Given the description of an element on the screen output the (x, y) to click on. 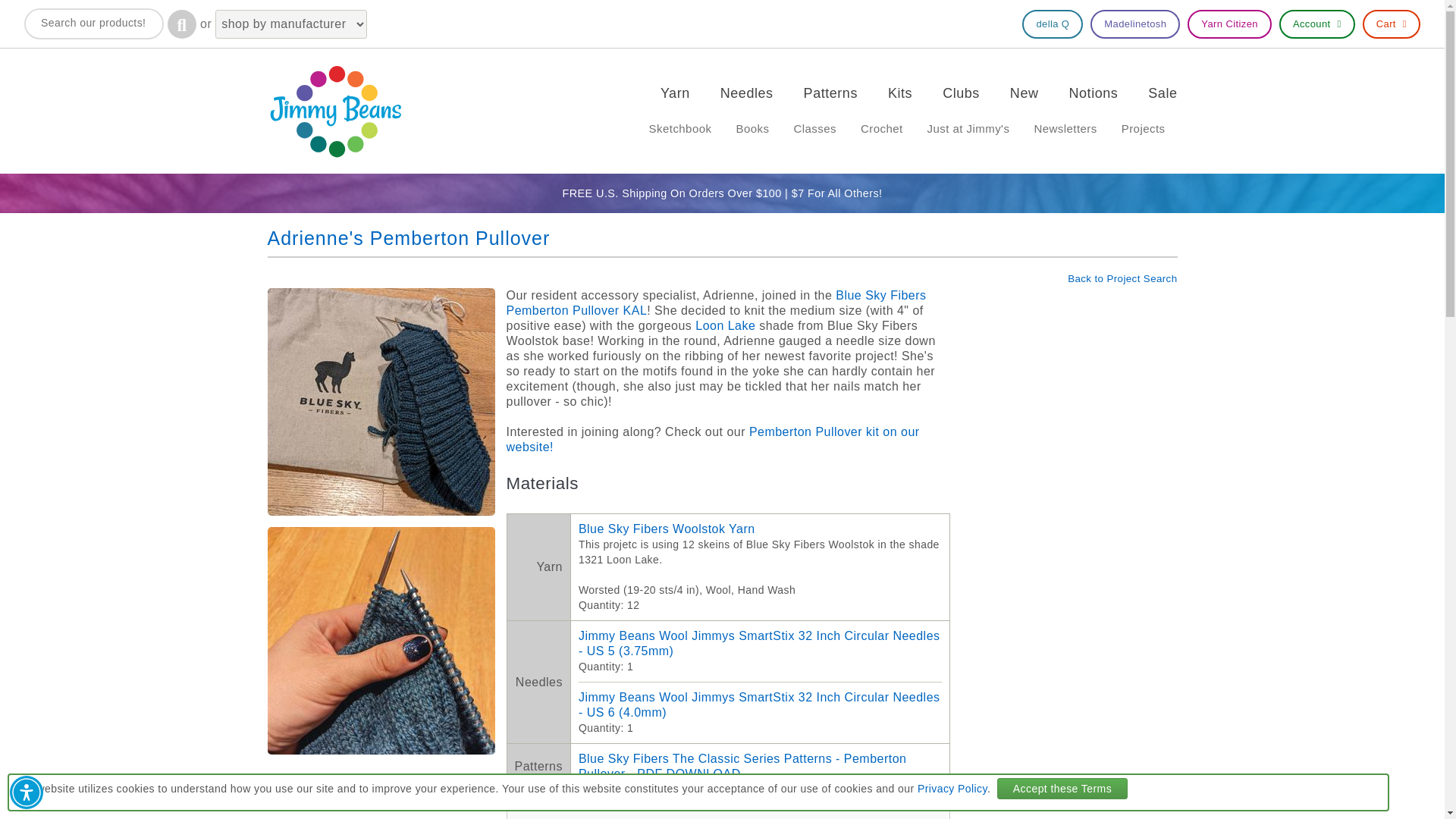
Projects (1143, 128)
Yarn Citizen (1229, 23)
Pemberton Pullover kit on our website! (713, 439)
Blue Sky Fibers Pemberton Pullover KAL (716, 302)
Books (751, 128)
Clubs (960, 92)
Madelinetosh (1134, 23)
Sale (1162, 92)
Back to Project Search (1121, 278)
Newsletters (1064, 128)
